Given the description of an element on the screen output the (x, y) to click on. 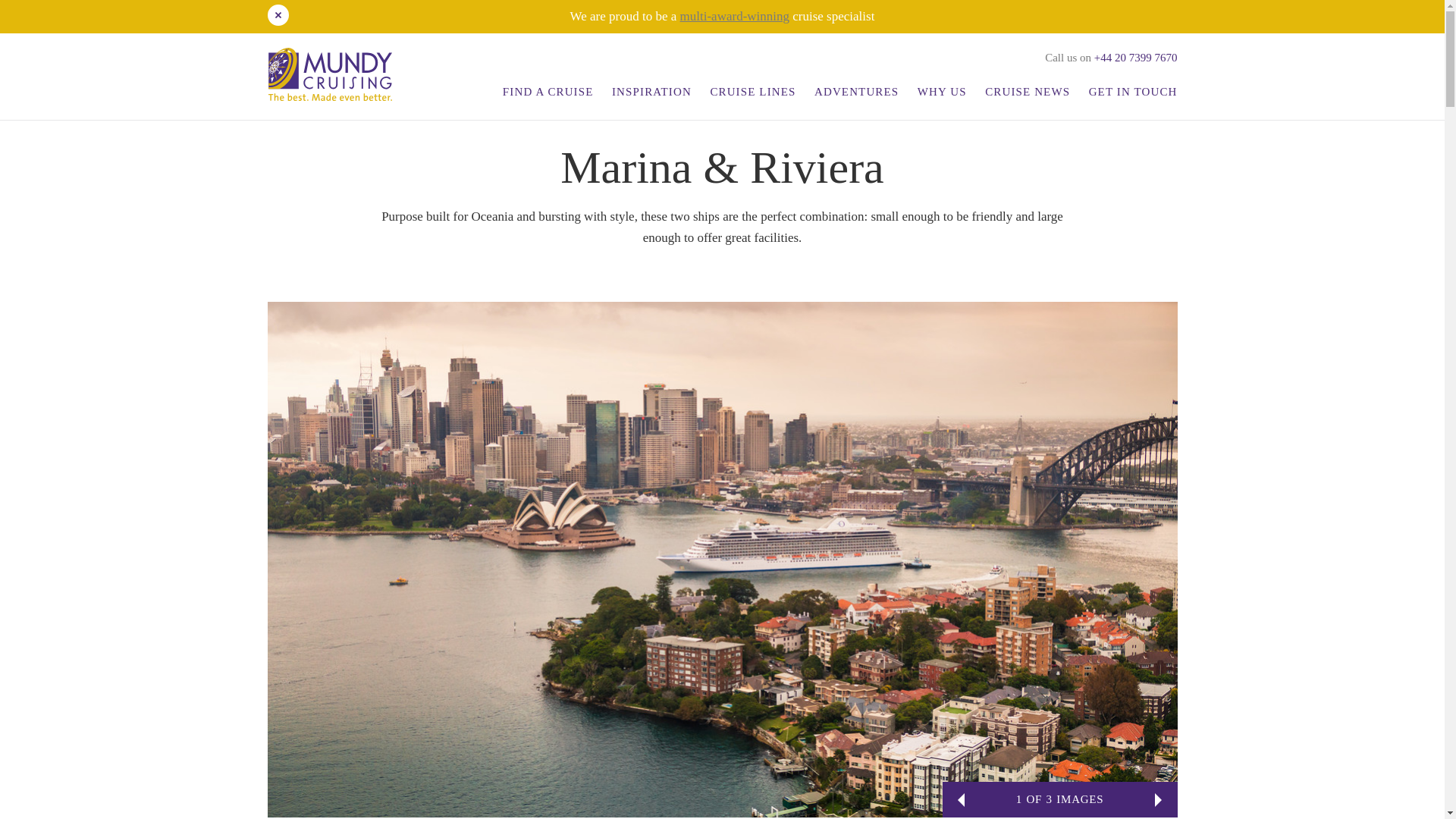
GET IN TOUCH (1129, 91)
CRUISE NEWS (1026, 91)
WHY US (942, 91)
CRUISE LINES (752, 91)
Previous (956, 799)
multi-award-winning (734, 16)
FIND A CRUISE (548, 91)
ADVENTURES (855, 91)
INSPIRATION (651, 91)
Next (1161, 799)
